Given the description of an element on the screen output the (x, y) to click on. 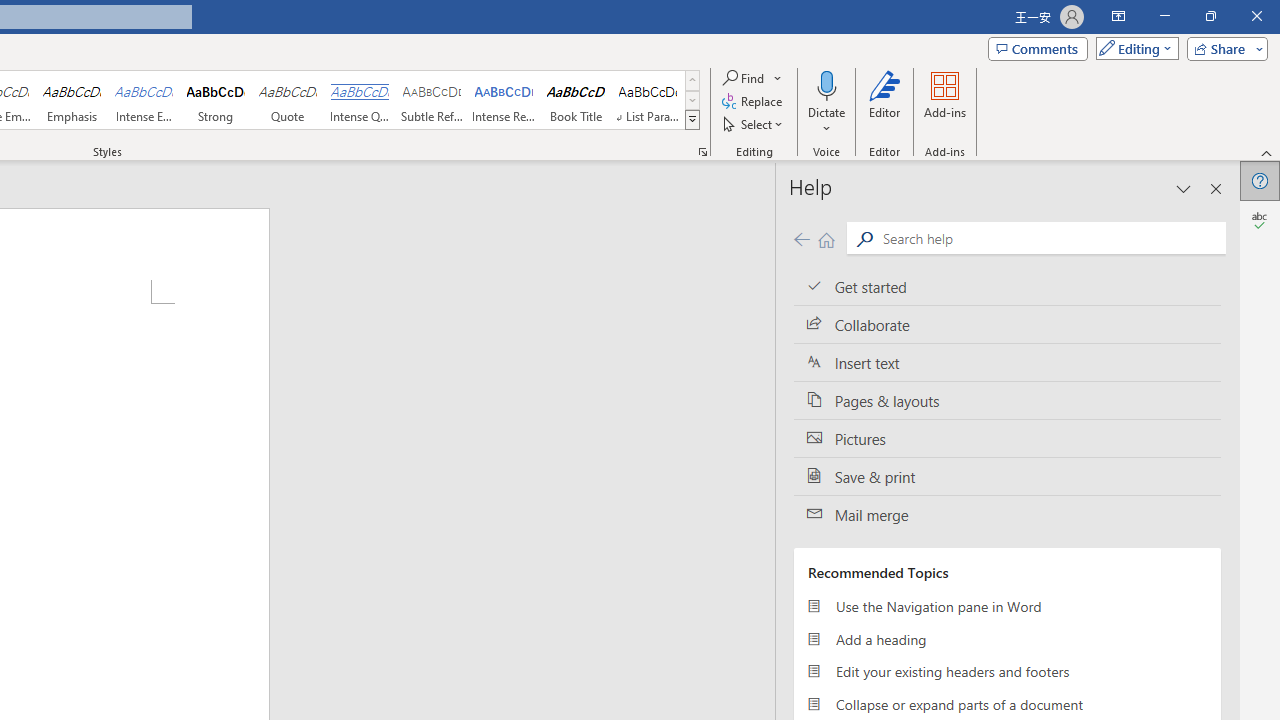
Emphasis (71, 100)
Add a heading (1007, 638)
Book Title (575, 100)
Intense Reference (504, 100)
Collapse or expand parts of a document (1007, 704)
